Given the description of an element on the screen output the (x, y) to click on. 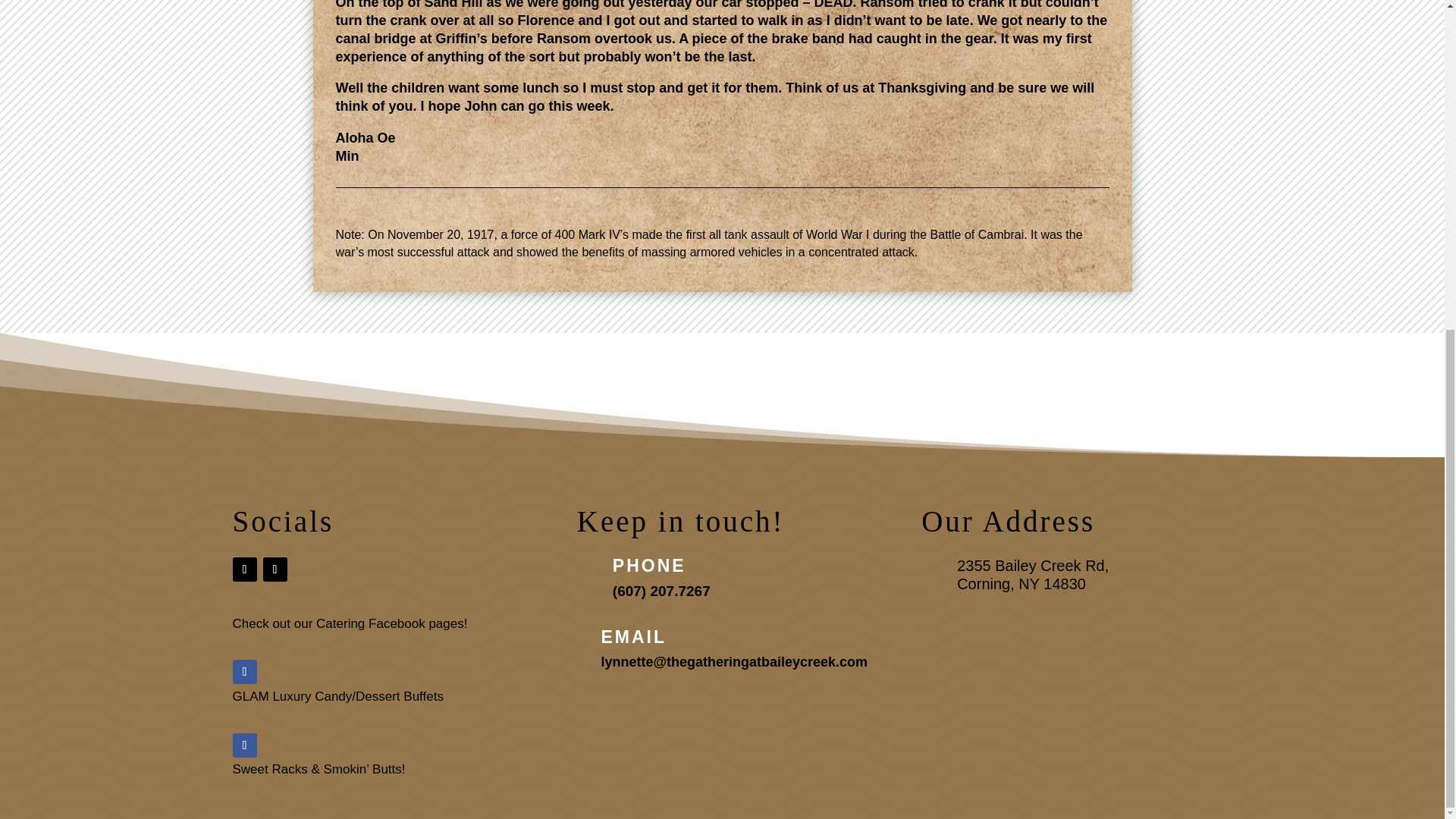
Follow on Instagram (274, 569)
Follow on Facebook (243, 671)
Follow on Facebook (243, 569)
Follow on Facebook (243, 745)
